Given the description of an element on the screen output the (x, y) to click on. 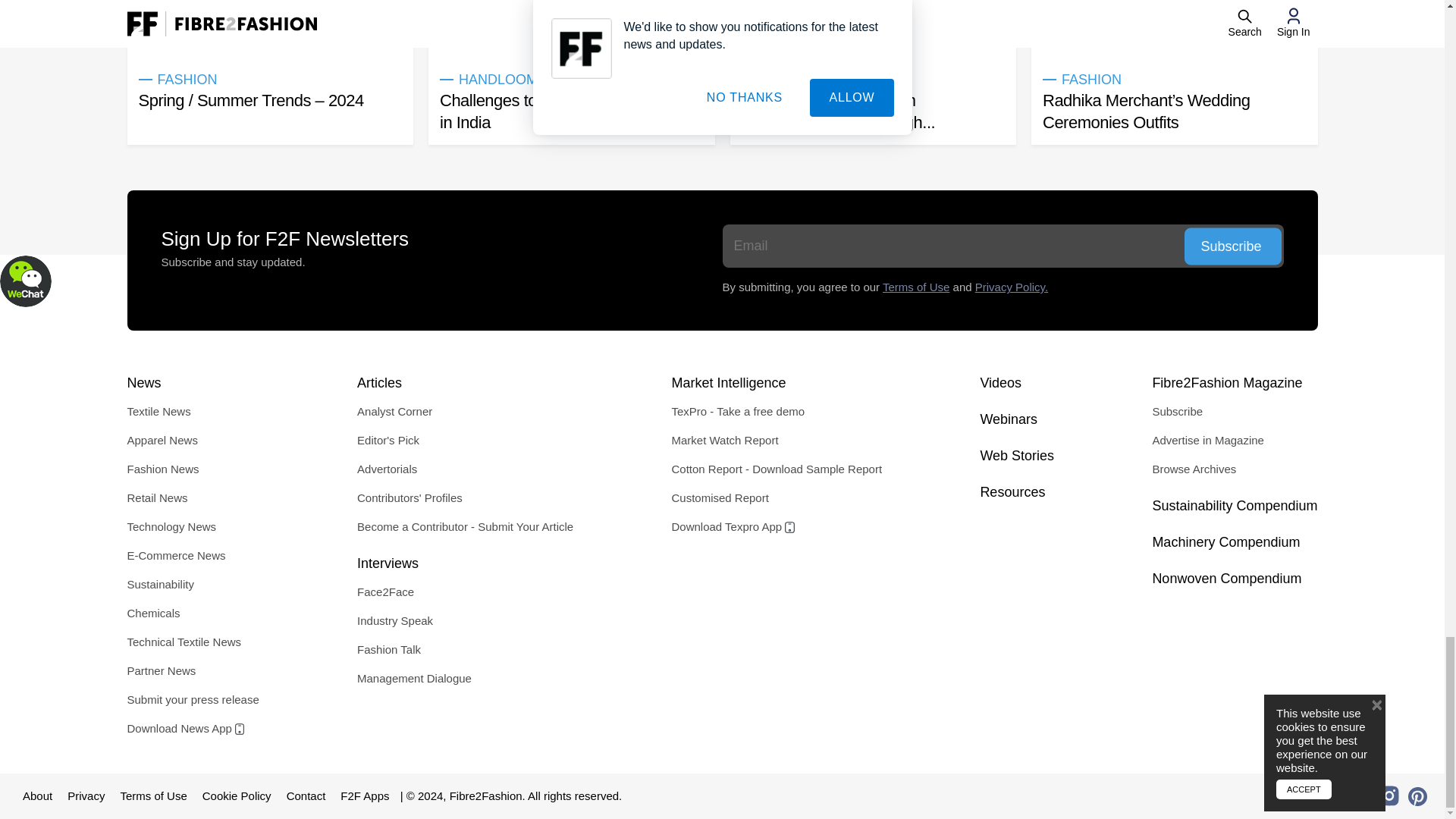
Subscribe  (1233, 245)
